Given the description of an element on the screen output the (x, y) to click on. 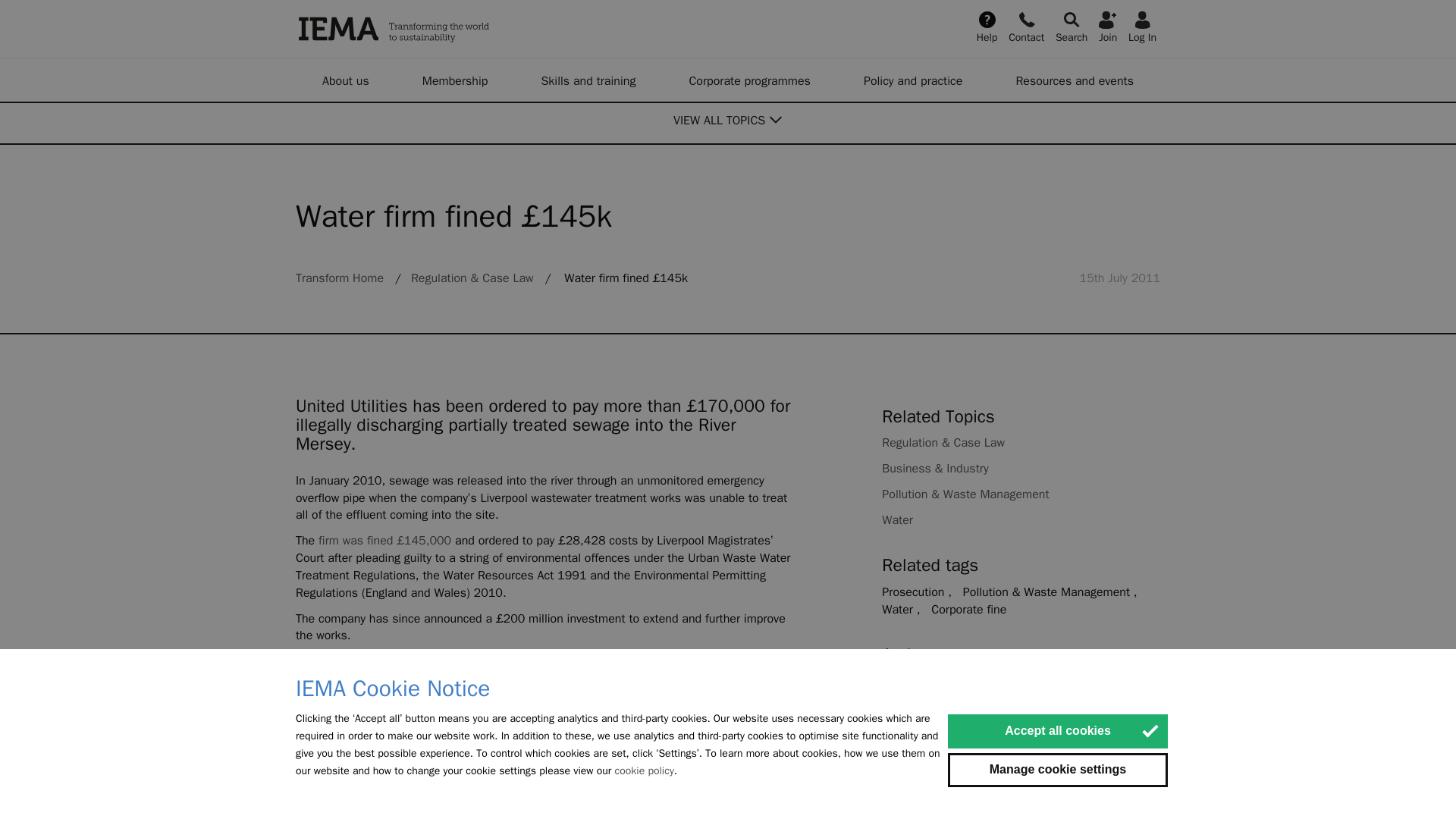
IEMA (470, 28)
Membership (455, 79)
Contact (1026, 26)
About us (345, 79)
